Given the description of an element on the screen output the (x, y) to click on. 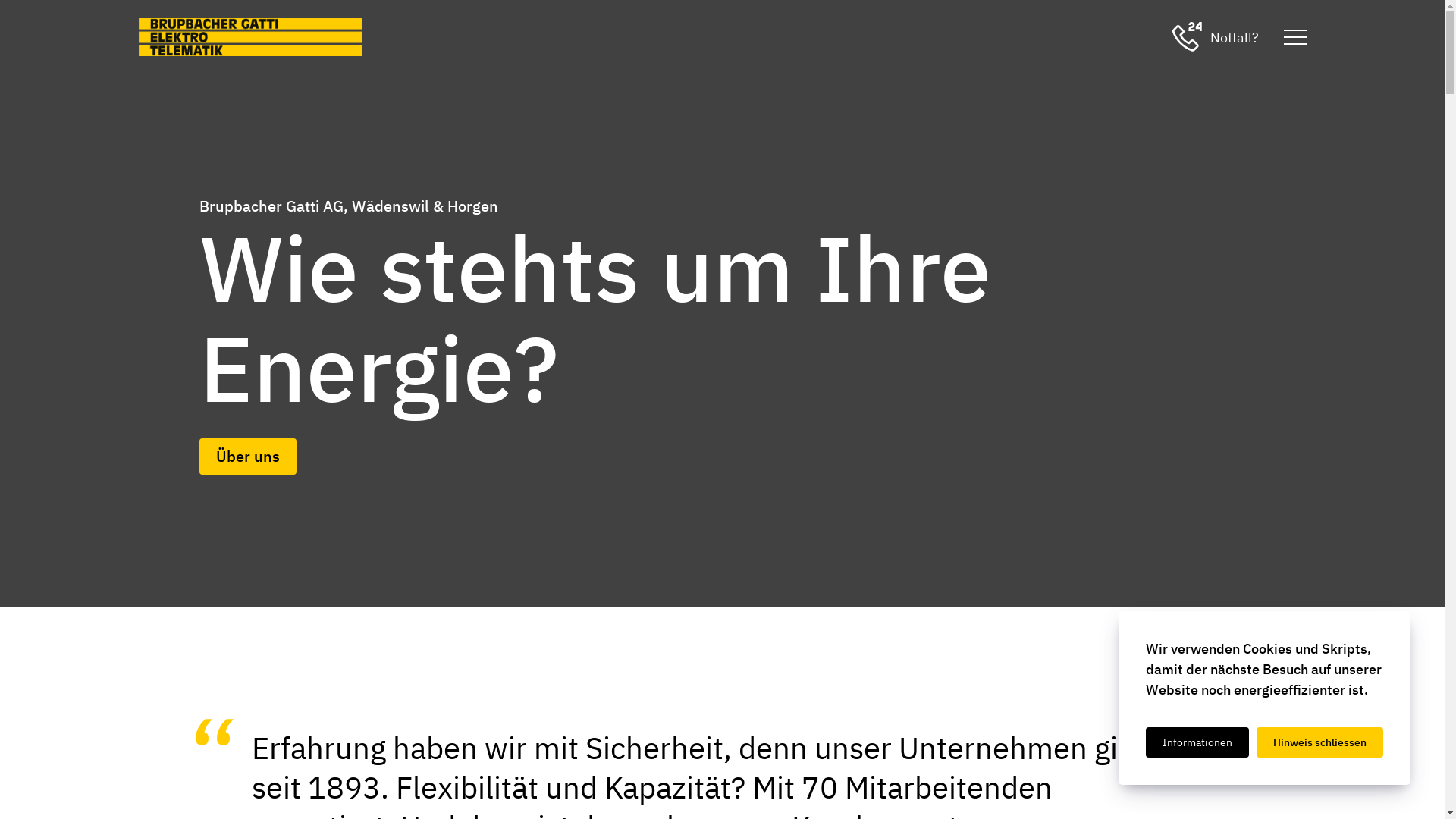
Hinweis schliessen Element type: text (1319, 742)
Toggle Menu Element type: text (1295, 36)
Informationen Element type: text (1196, 742)
Notfall? Element type: text (1215, 36)
